Given the description of an element on the screen output the (x, y) to click on. 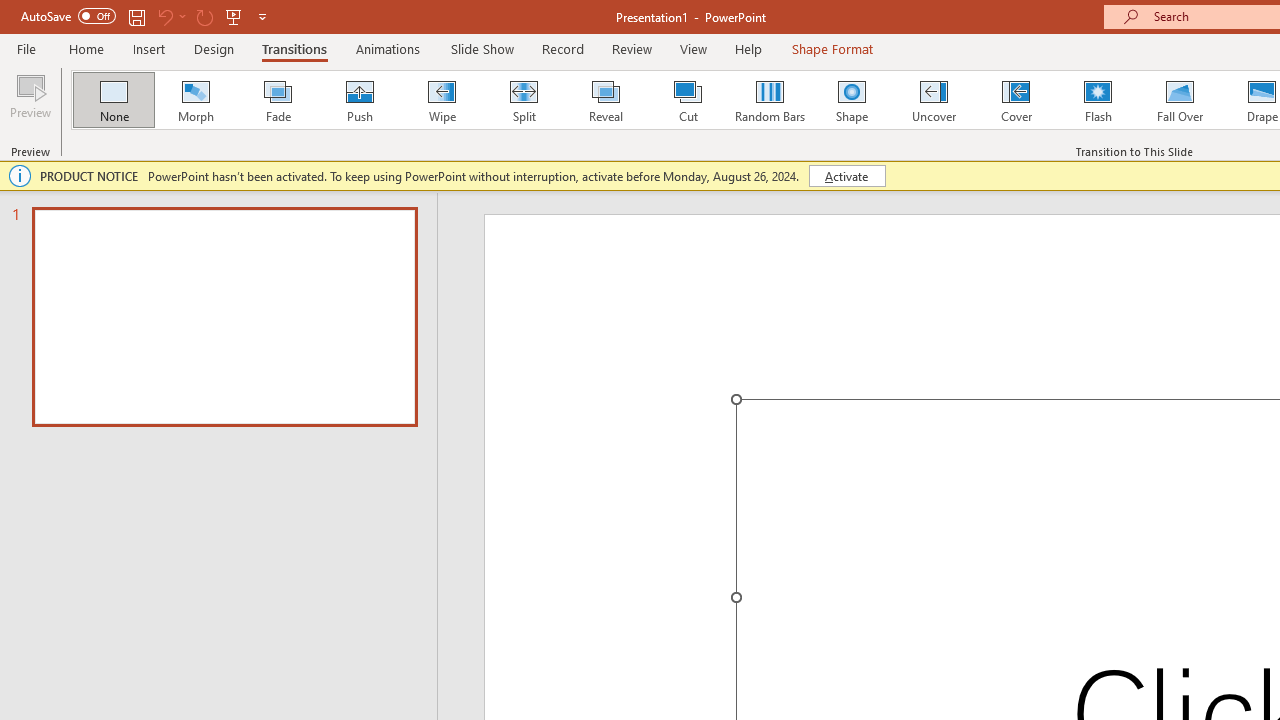
None (113, 100)
Push (359, 100)
Shape Format (832, 48)
Flash (1098, 100)
Cut (687, 100)
Cover (1016, 100)
